Given the description of an element on the screen output the (x, y) to click on. 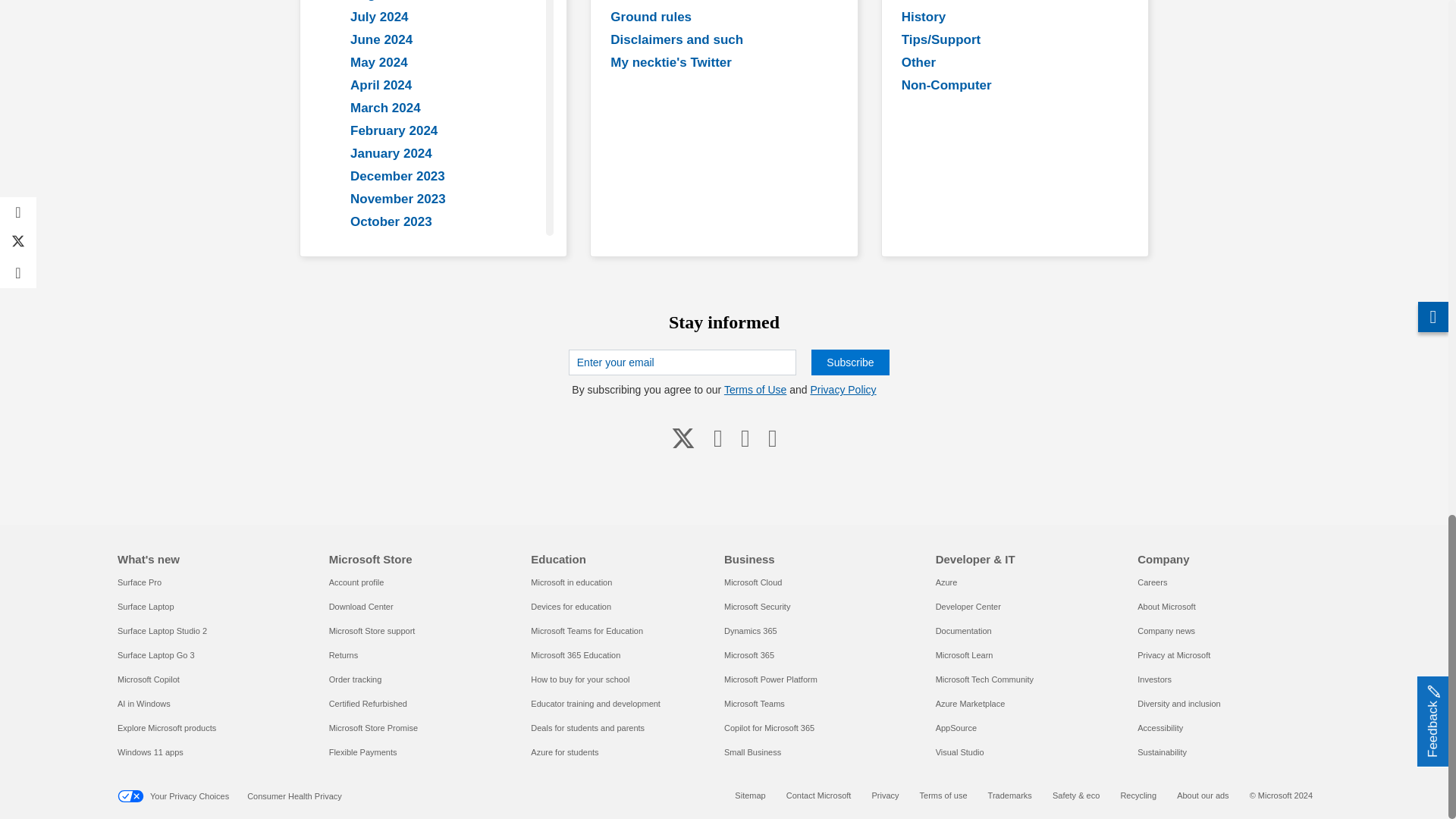
RSS Feed (772, 437)
GitHub (745, 437)
youtube (718, 437)
twitter (683, 437)
Subscribe (849, 362)
